Given the description of an element on the screen output the (x, y) to click on. 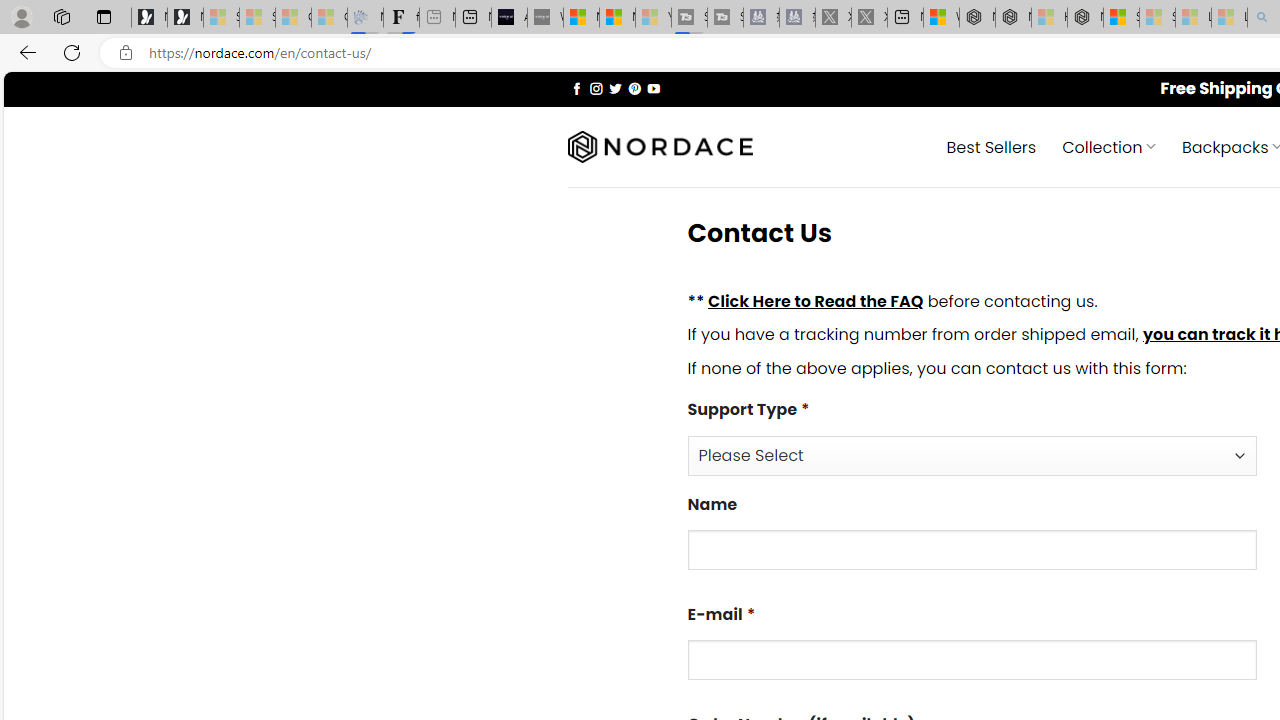
E-mail* (971, 660)
Support Type* (971, 454)
